Given the description of an element on the screen output the (x, y) to click on. 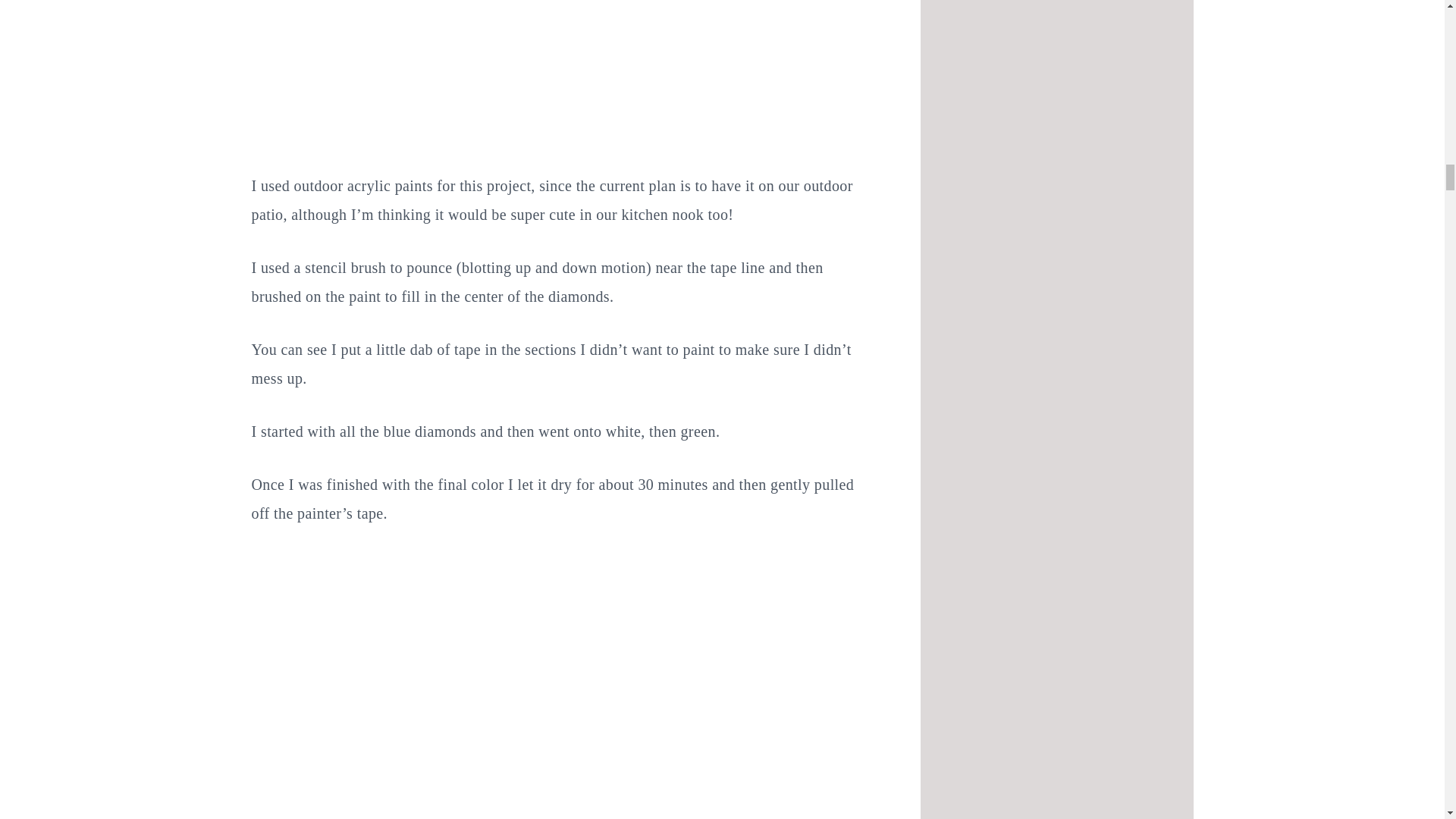
Painted Outdoor Rug Tutorial (524, 792)
